Given the description of an element on the screen output the (x, y) to click on. 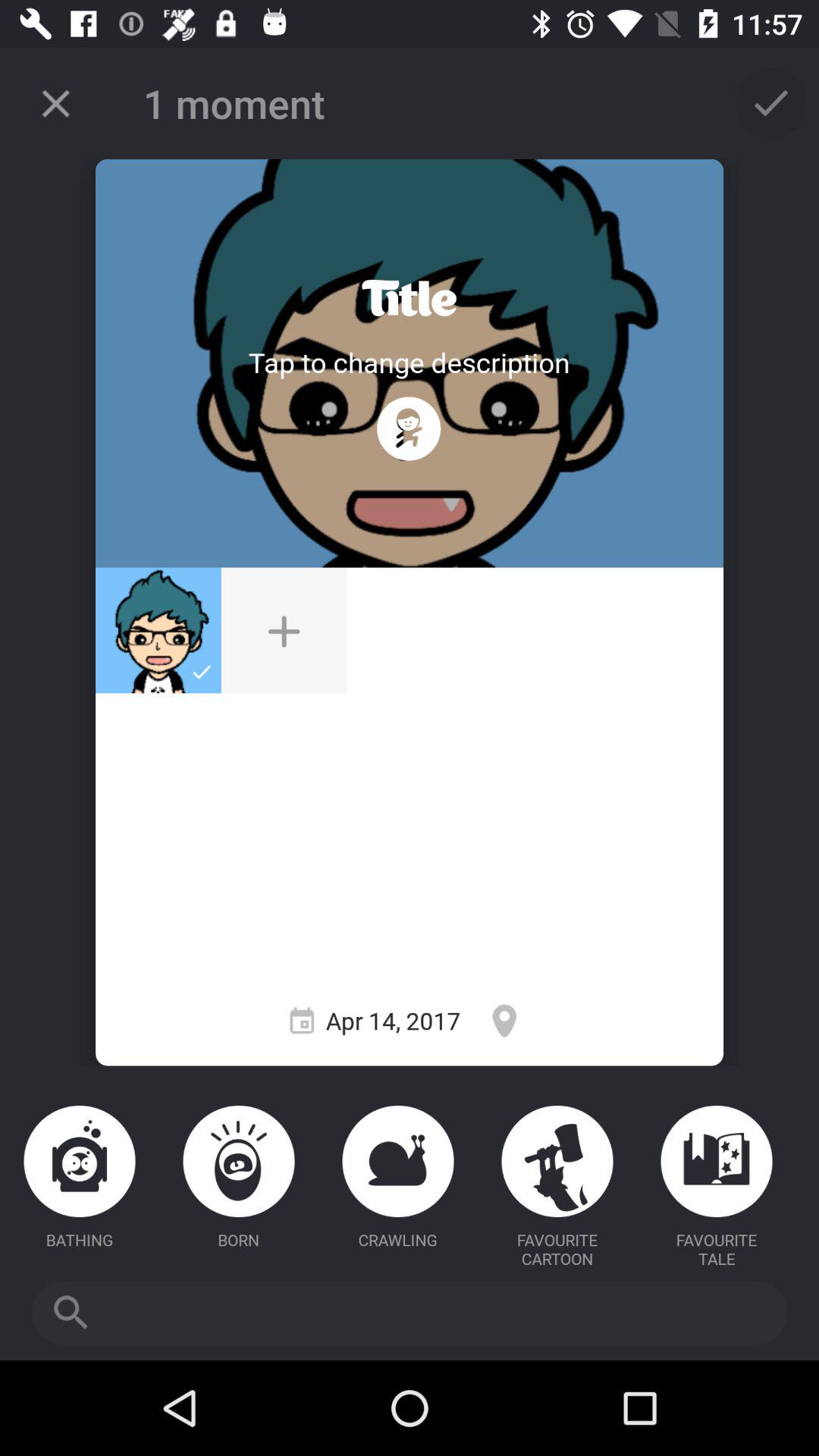
choose the item to the left of 1 moment item (55, 103)
